Given the description of an element on the screen output the (x, y) to click on. 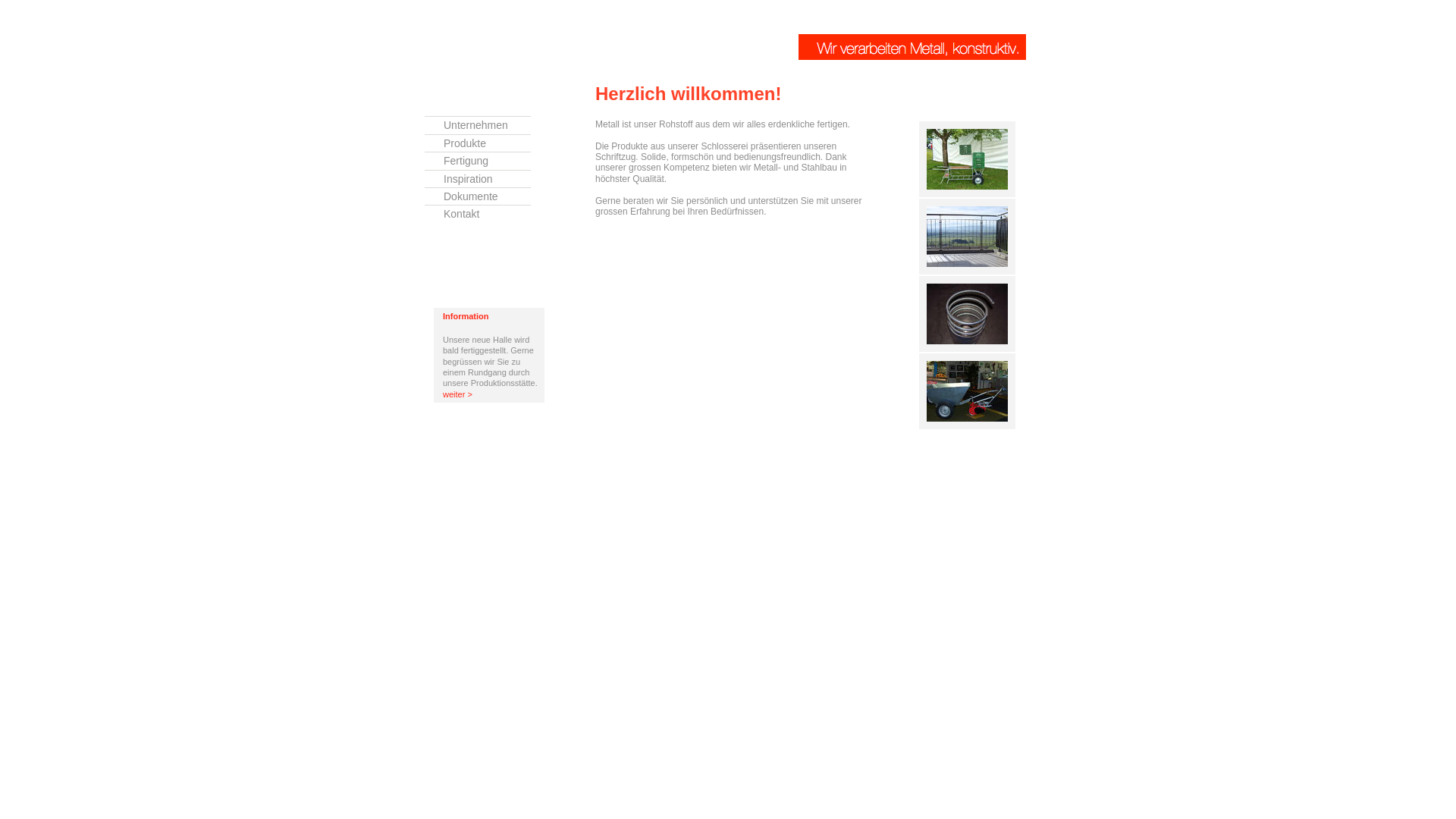
  Element type: text (548, 31)
Kontakt Element type: text (477, 211)
Produkte Element type: text (477, 141)
Inspiration Element type: text (477, 176)
weiter > Element type: text (457, 393)
Unternehmen Element type: text (477, 123)
Dokumente Element type: text (477, 194)
Fertigung Element type: text (477, 158)
